Given the description of an element on the screen output the (x, y) to click on. 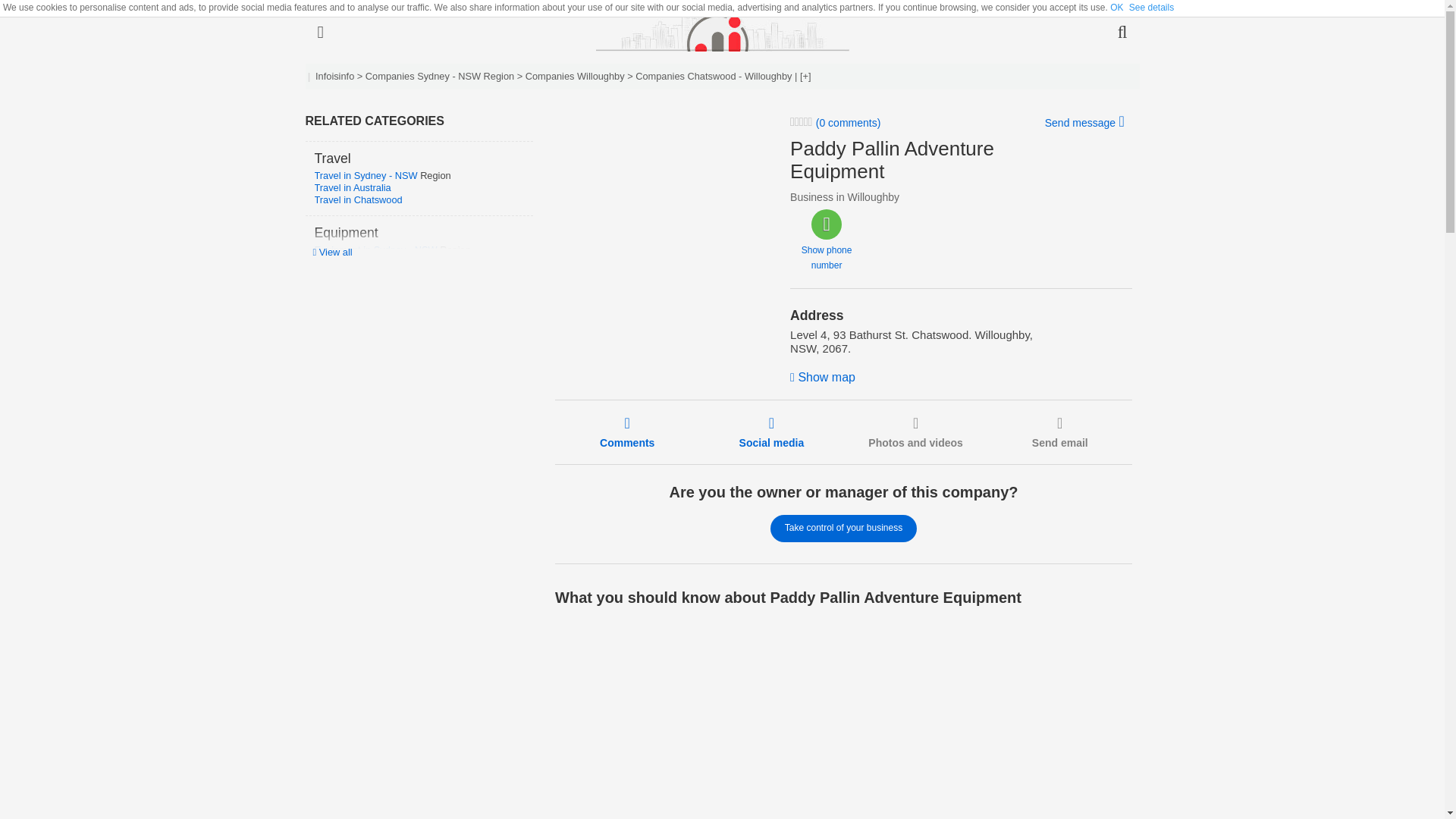
Comments (626, 431)
Infoisinfo (334, 75)
Companies Sydney - NSW (424, 75)
InfoisInfo Australia (721, 31)
We don't have a contact email address for this business (1059, 431)
Advertisement (660, 210)
See details (1151, 8)
Companies Chatswood - Willoughby (713, 75)
Advertisement (732, 719)
OK (1115, 8)
Travel in Chatswood (357, 199)
This business has no pictures or videos (914, 431)
Equipment in Sydney - NSW (376, 249)
Social media (772, 431)
Travel in Australia (352, 187)
